Given the description of an element on the screen output the (x, y) to click on. 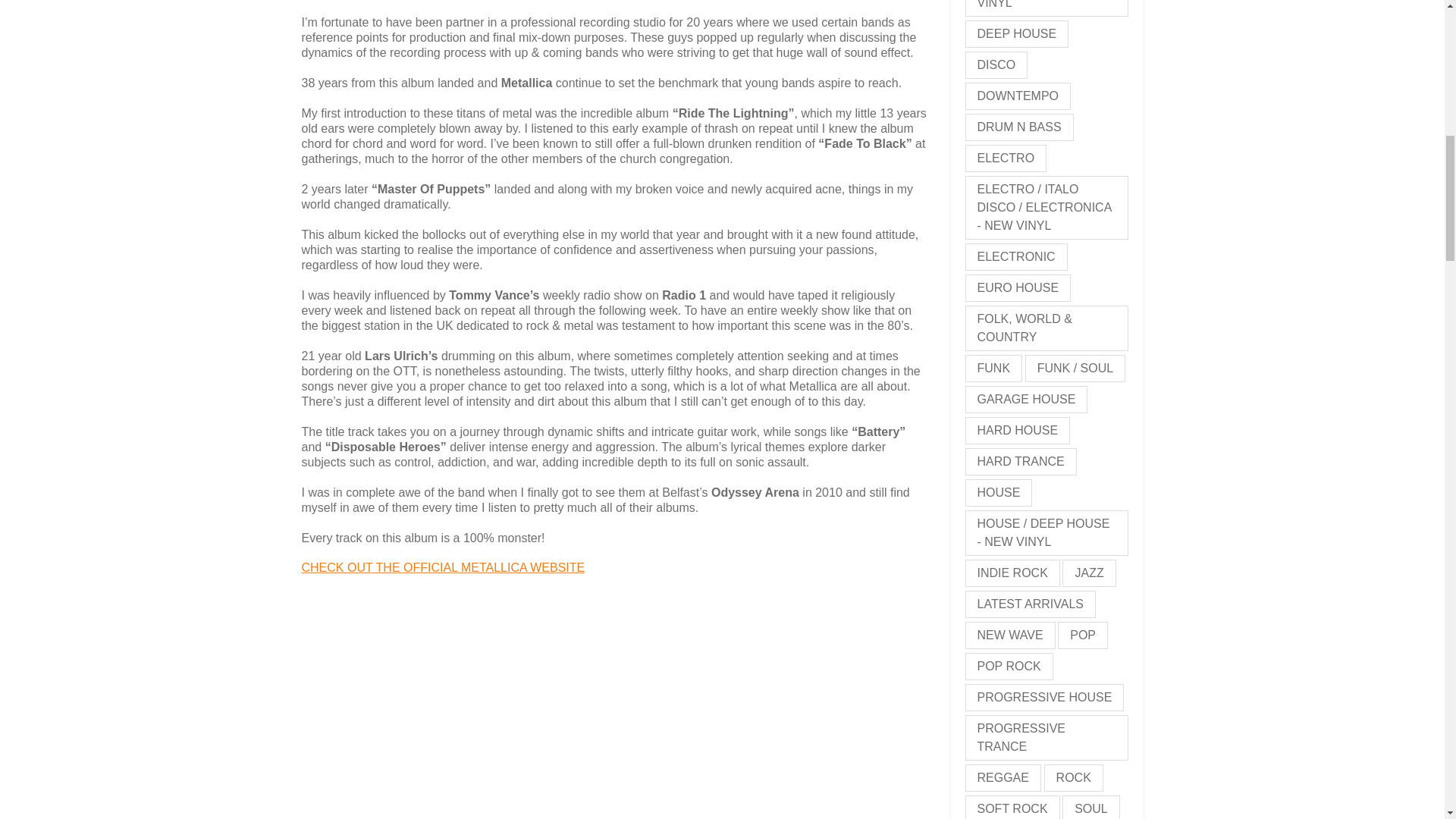
CHECK OUT THE OFFICIAL METALLICA WEBSITE (443, 567)
